Given the description of an element on the screen output the (x, y) to click on. 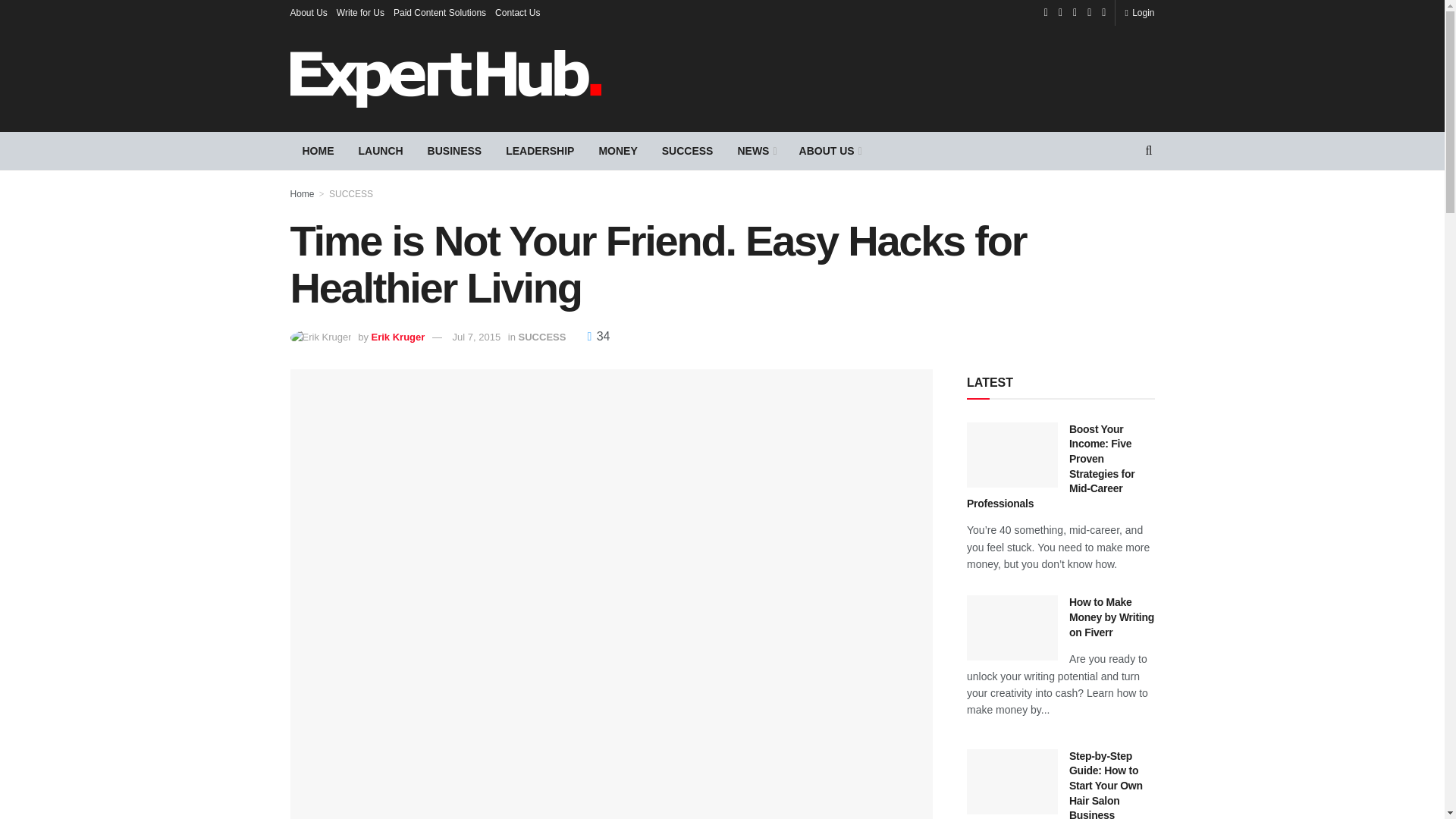
Write for Us (360, 12)
LAUNCH (380, 150)
Login (1139, 12)
Paid Content Solutions (439, 12)
MONEY (617, 150)
SUCCESS (687, 150)
ABOUT US (829, 150)
BUSINESS (454, 150)
LEADERSHIP (539, 150)
Contact Us (517, 12)
